Given the description of an element on the screen output the (x, y) to click on. 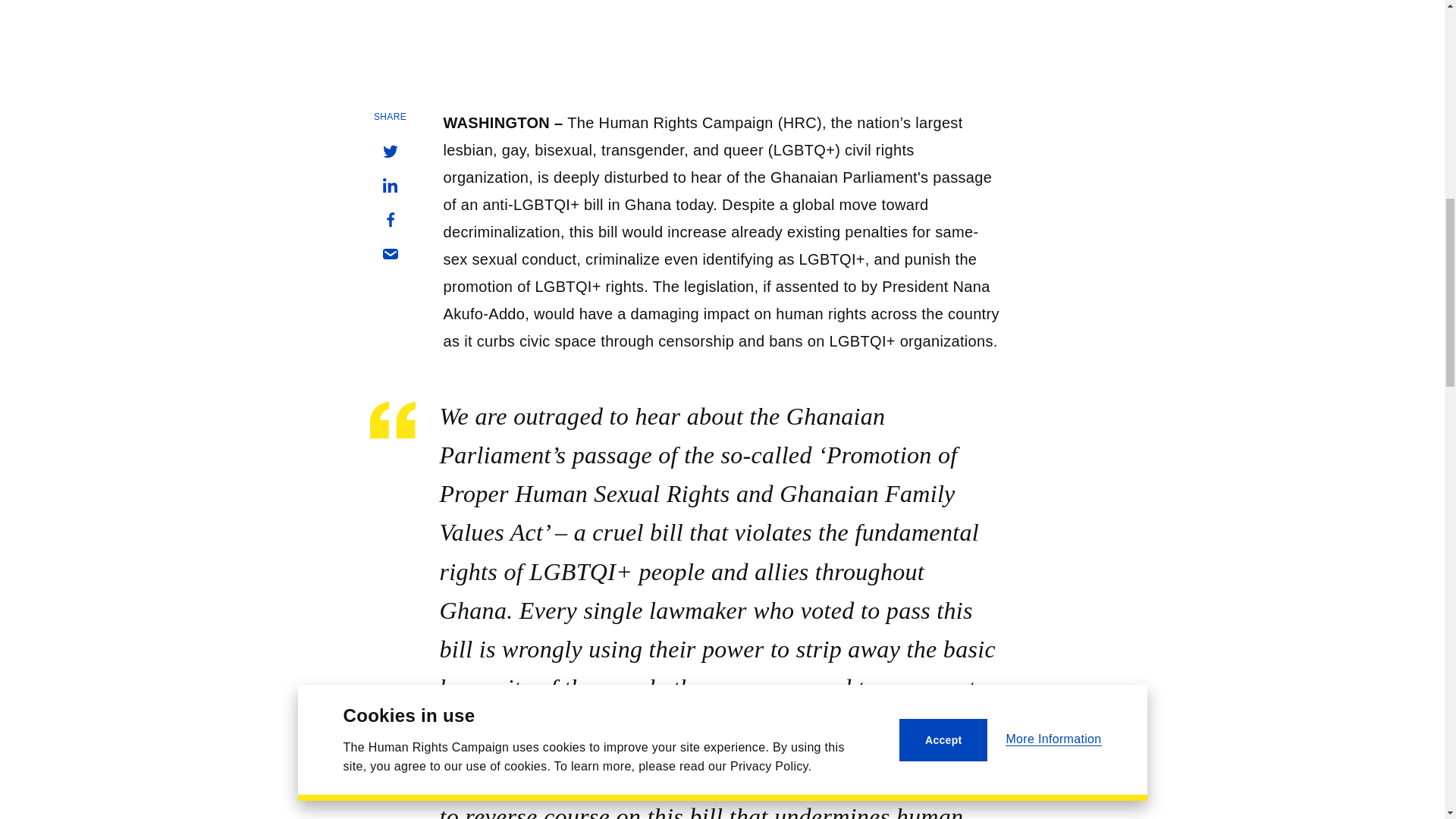
Email (389, 253)
Facebook (389, 220)
LinkedIn (389, 185)
Twitter (389, 151)
